Given the description of an element on the screen output the (x, y) to click on. 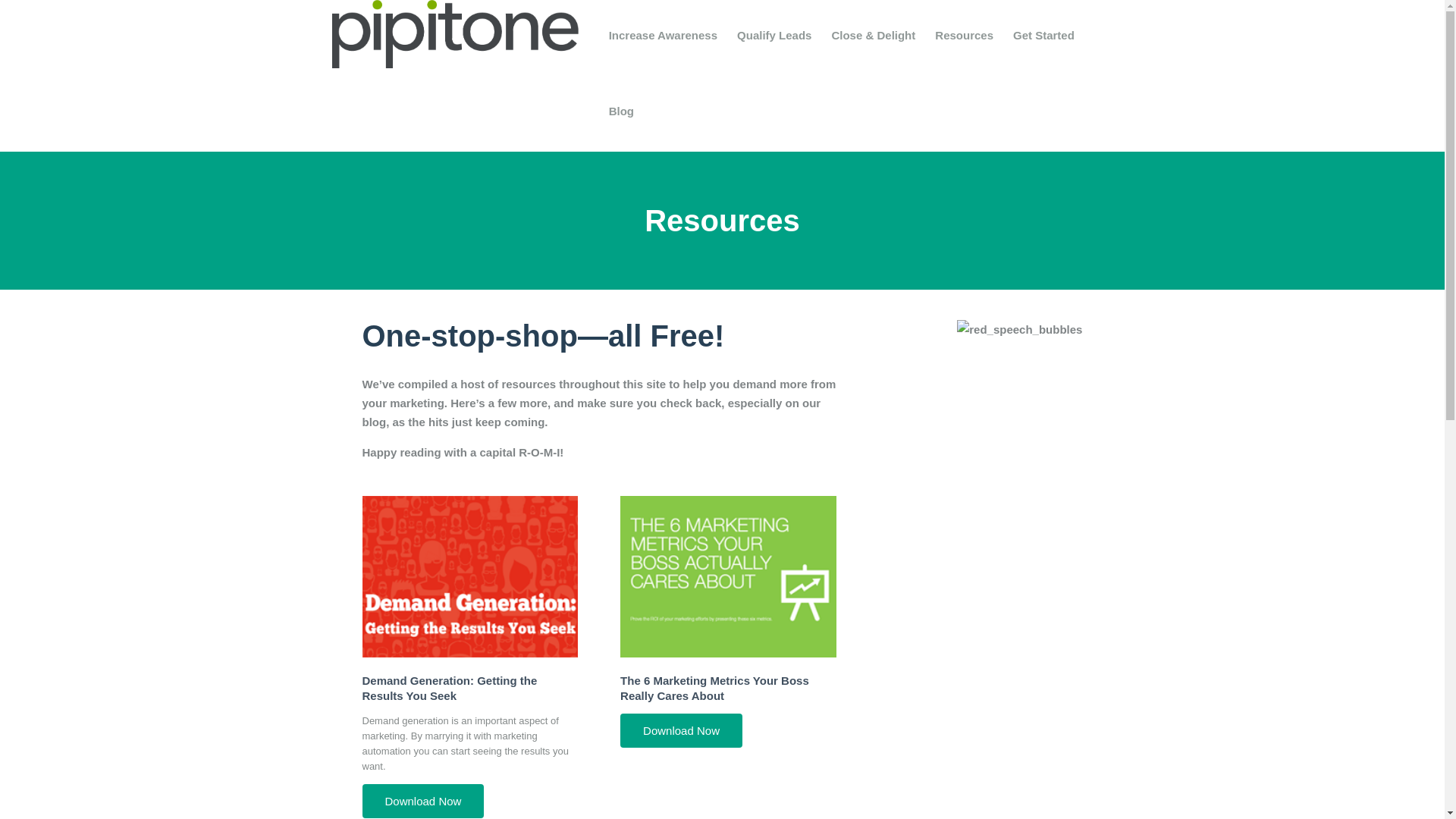
Download Now (423, 800)
Resources (963, 34)
pipitone (455, 33)
Get Started (1043, 34)
Download Now (681, 730)
Increase Awareness (662, 34)
Boss (727, 576)
Qualify Leads (773, 34)
Blog (620, 110)
